Given the description of an element on the screen output the (x, y) to click on. 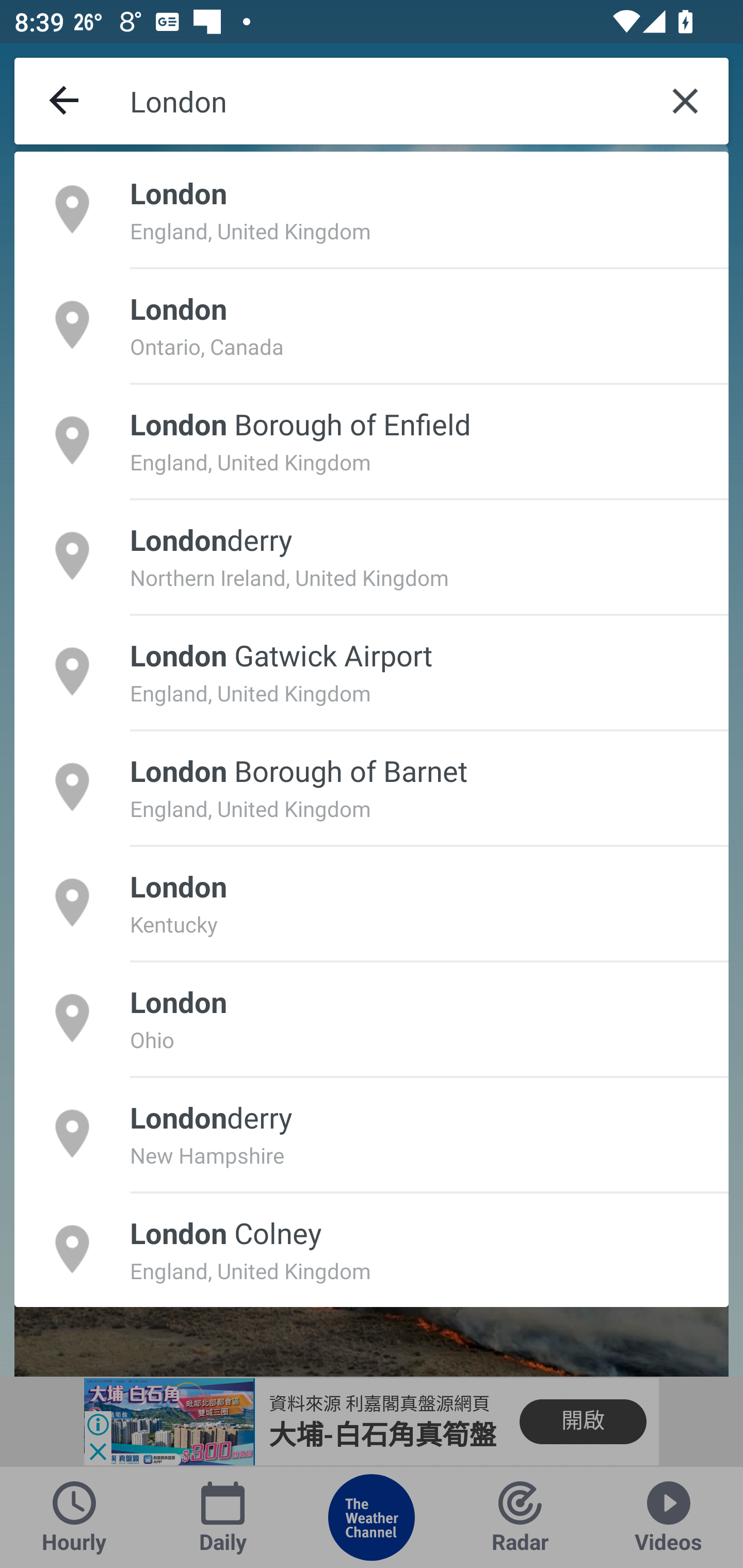
Back (64, 101)
Clear (684, 101)
London (385, 100)
London England, United Kingdom (371, 209)
London Ontario, Canada (371, 324)
London Borough of Enfield England, United Kingdom (371, 440)
Londonderry Northern Ireland, United Kingdom (371, 555)
London Gatwick Airport England, United Kingdom (371, 671)
London Borough of Barnet England, United Kingdom (371, 787)
London Kentucky (371, 902)
London Ohio (371, 1017)
Londonderry New Hampshire (371, 1133)
London Colney England, United Kingdom (371, 1249)
